Given the description of an element on the screen output the (x, y) to click on. 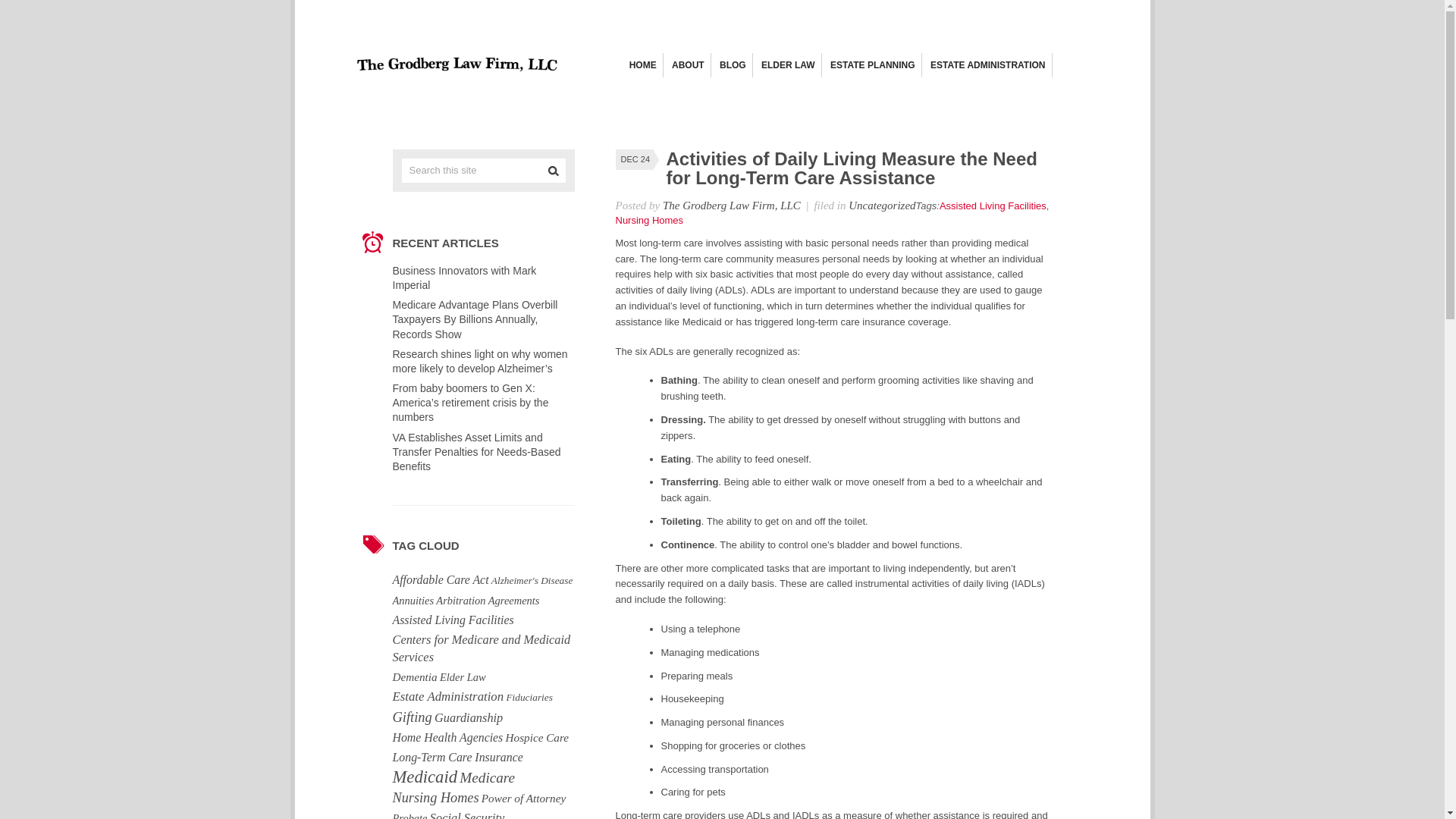
ESTATE ADMINISTRATION (987, 64)
HOME (642, 64)
ABOUT (687, 64)
Annuities (413, 600)
Search (553, 170)
ESTATE PLANNING (872, 64)
ELDER LAW (788, 64)
Uncategorized (881, 205)
Search (553, 170)
Assisted Living Facilities (992, 205)
Alzheimer's Disease (532, 580)
Legal Solutions to Keep Your Golden Years Golden (457, 79)
Nursing Homes (649, 220)
Arbitration Agreements (486, 600)
